Given the description of an element on the screen output the (x, y) to click on. 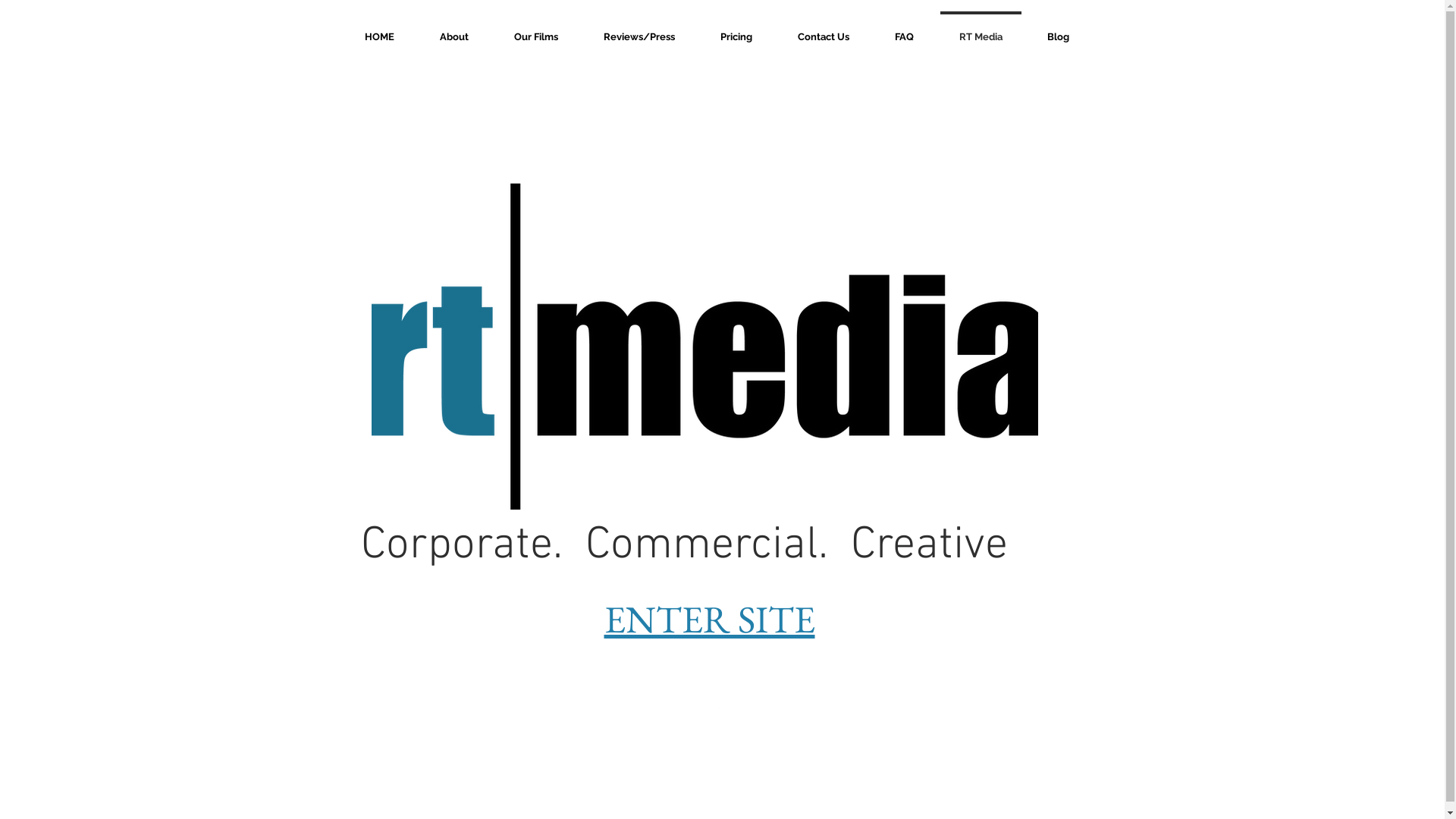
Blog Element type: text (1058, 30)
ENTER SITE Element type: text (708, 618)
RT Media Element type: text (979, 30)
Contact Us Element type: text (823, 30)
Pricing Element type: text (736, 30)
Back to Top Element type: text (715, 746)
FAQ Element type: text (904, 30)
About Element type: text (454, 30)
Reviews/Press Element type: text (638, 30)
HOME Element type: text (378, 30)
Our Films Element type: text (535, 30)
